Given the description of an element on the screen output the (x, y) to click on. 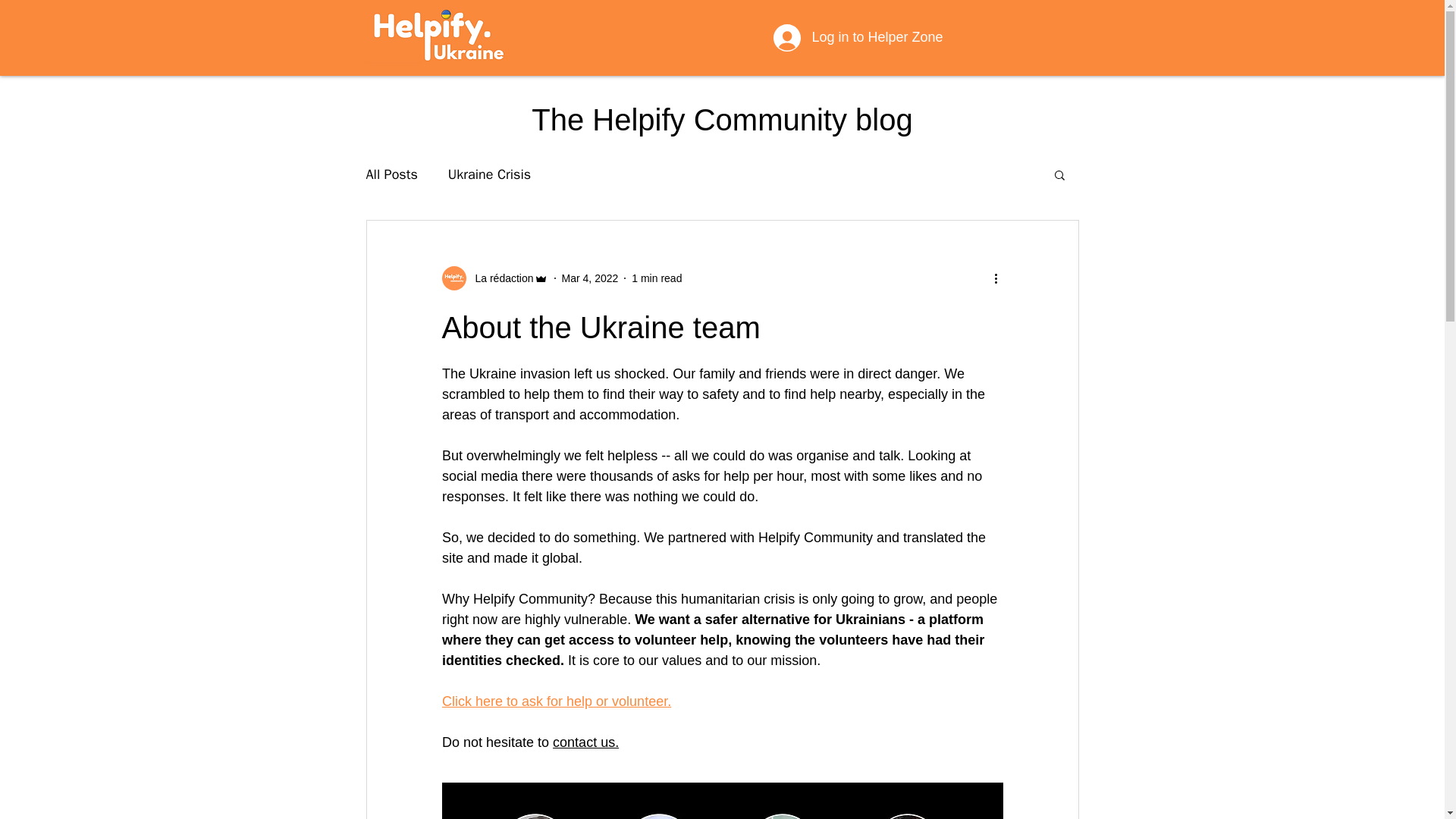
Mar 4, 2022 (590, 277)
Log in to Helper Zone (857, 37)
Click here to ask for help or volunteer. (555, 701)
Ukraine Crisis (489, 174)
1 min read (656, 277)
All Posts (390, 174)
